Given the description of an element on the screen output the (x, y) to click on. 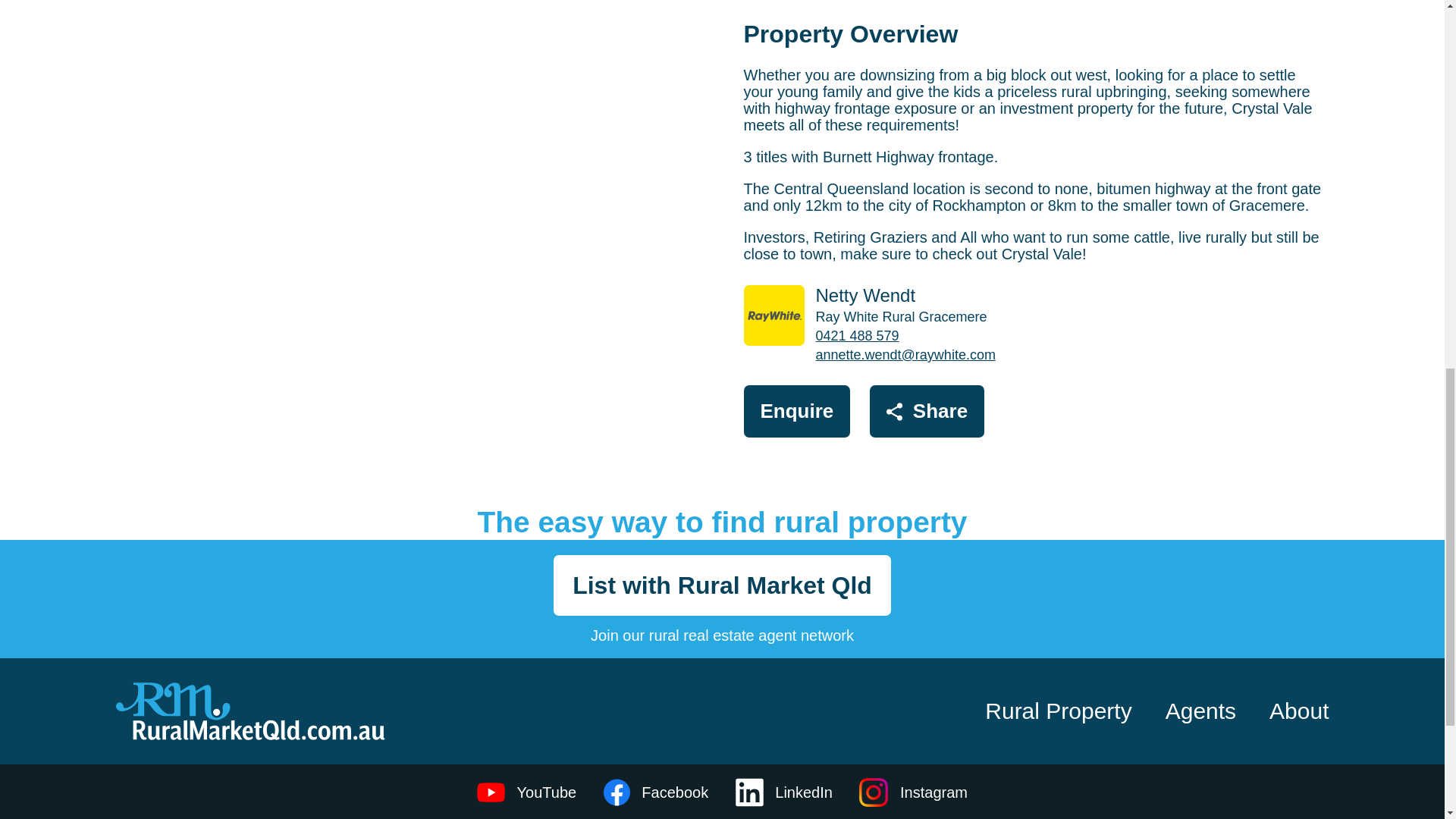
Enquire (796, 410)
Instagram (913, 792)
Rural Property (1058, 711)
LinkedIn (783, 792)
YouTube (526, 792)
Share (926, 410)
Facebook (655, 792)
List with Rural Market Qld (722, 585)
Agents (1200, 711)
About (1298, 711)
0421 488 579 (857, 335)
